Given the description of an element on the screen output the (x, y) to click on. 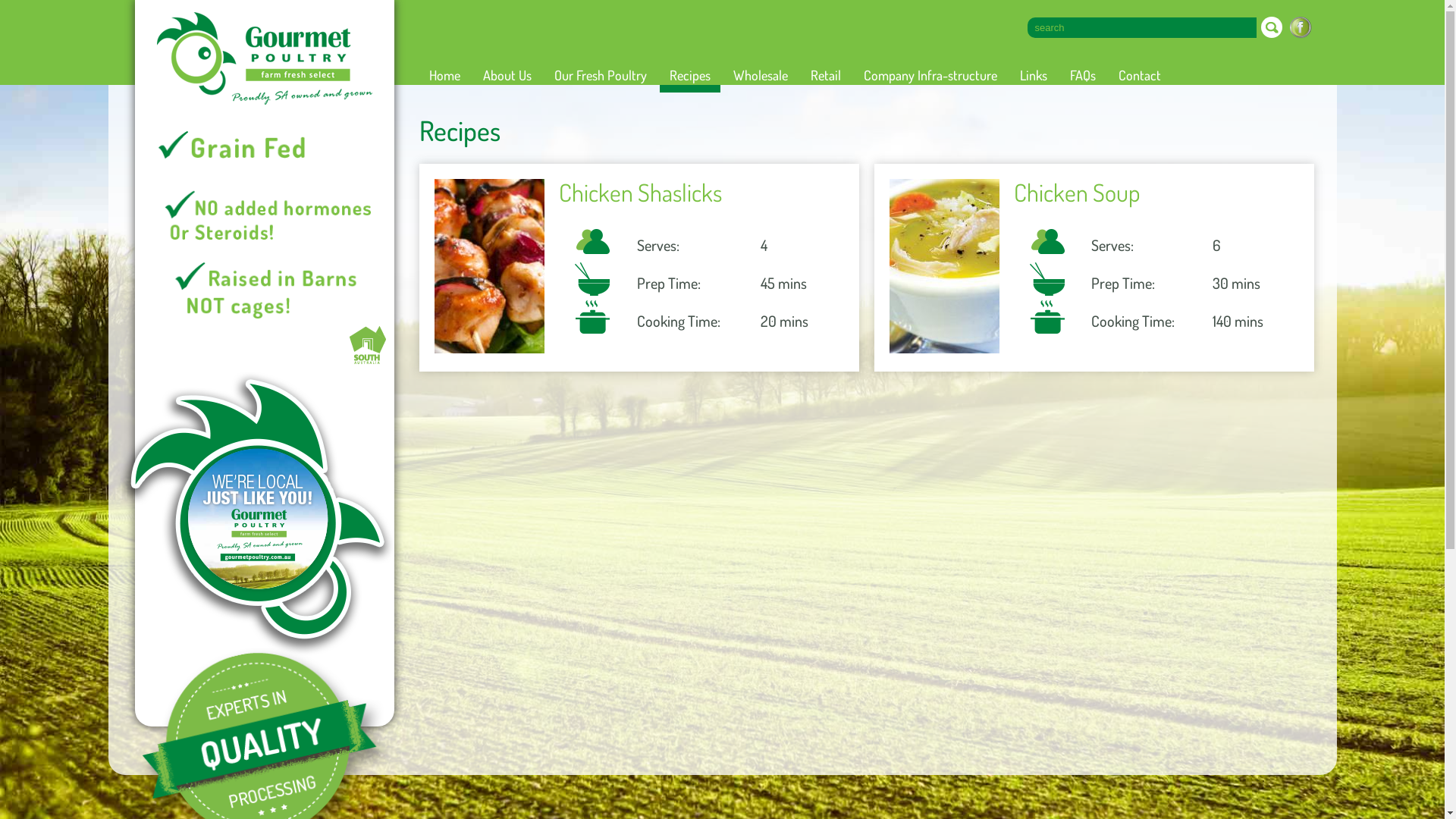
Wholesale Element type: text (760, 74)
Chicken Soup Element type: text (1152, 192)
Links Element type: text (1033, 74)
Recipes Element type: text (689, 74)
Follow us on Facebook Element type: hover (1299, 27)
FAQs Element type: text (1082, 74)
Search Element type: hover (1270, 26)
Our Fresh Poultry Element type: text (600, 74)
Chicken Shaslicks Element type: hover (492, 265)
Retail Element type: text (825, 74)
Chicken Shaslicks Element type: text (697, 192)
Home Element type: text (443, 74)
About Us Element type: text (507, 74)
Chicken Soup Element type: hover (947, 265)
Company Infra-structure Element type: text (930, 74)
Contact Element type: text (1139, 74)
